Given the description of an element on the screen output the (x, y) to click on. 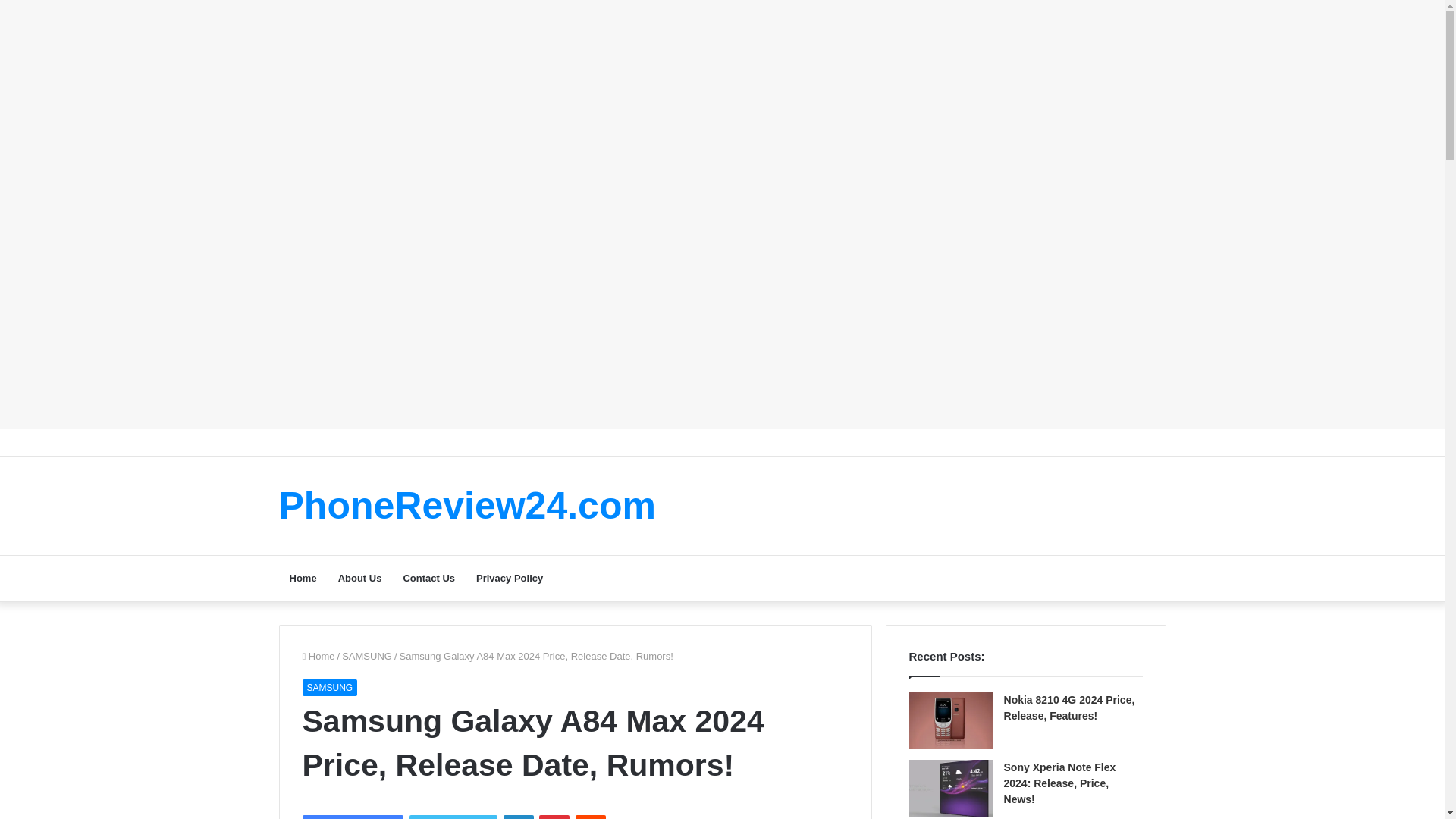
Facebook (352, 816)
Privacy Policy (509, 578)
Reddit (590, 816)
LinkedIn (518, 816)
Facebook (352, 816)
SAMSUNG (328, 687)
Pinterest (553, 816)
SAMSUNG (366, 655)
LinkedIn (518, 816)
Pinterest (553, 816)
